Given the description of an element on the screen output the (x, y) to click on. 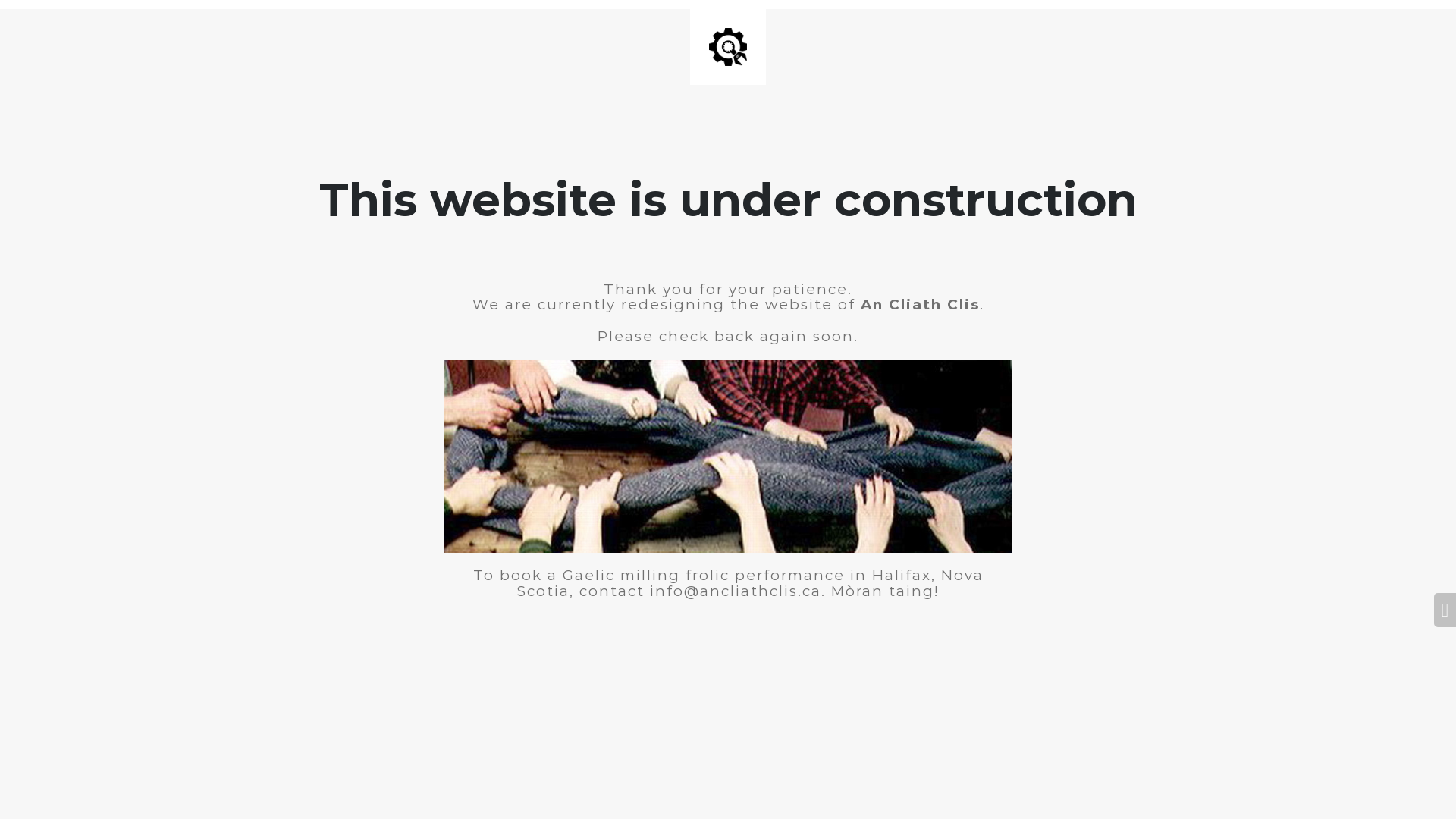
Site is Under Construction Element type: hover (727, 46)
